Given the description of an element on the screen output the (x, y) to click on. 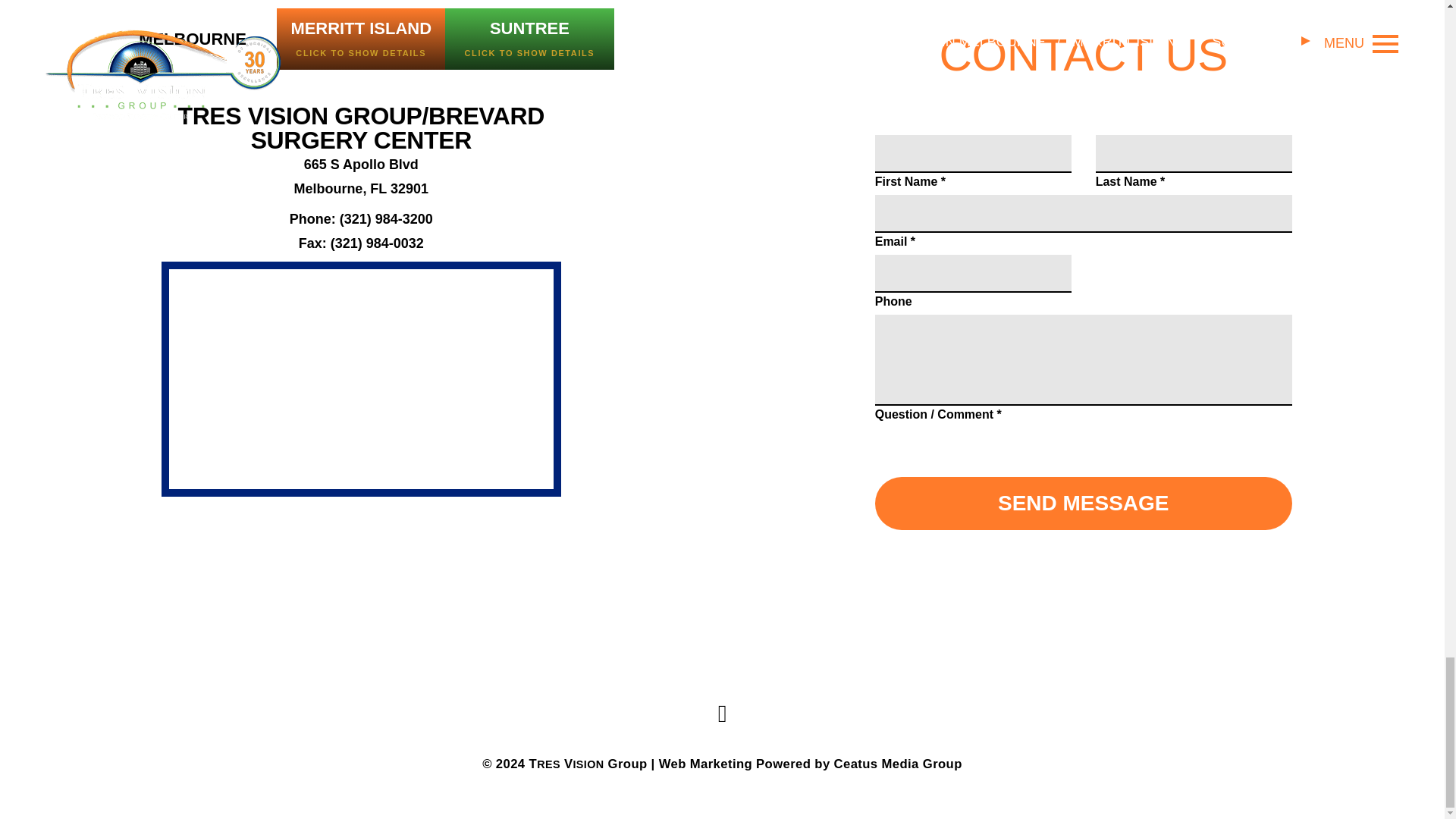
Send Message (1083, 502)
